Given the description of an element on the screen output the (x, y) to click on. 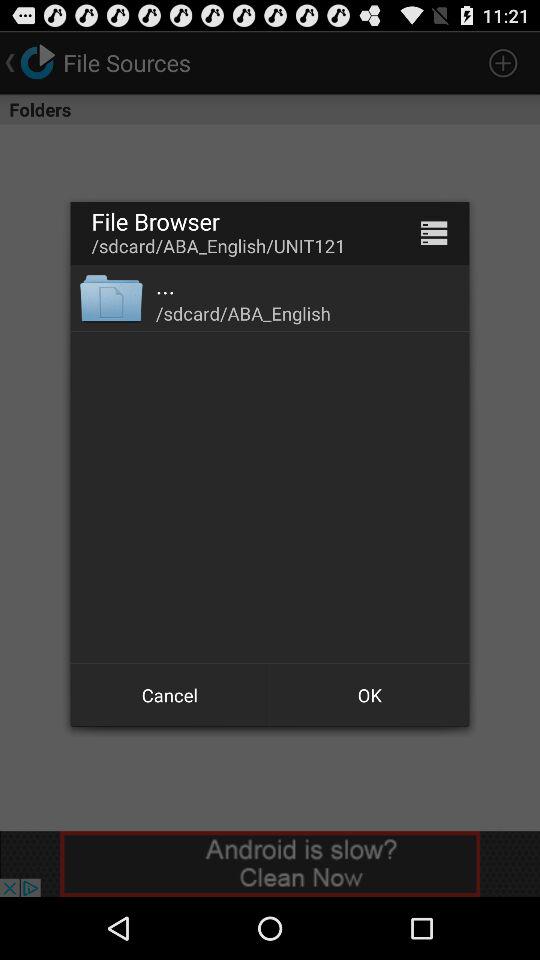
tap app next to the ... item (110, 297)
